Given the description of an element on the screen output the (x, y) to click on. 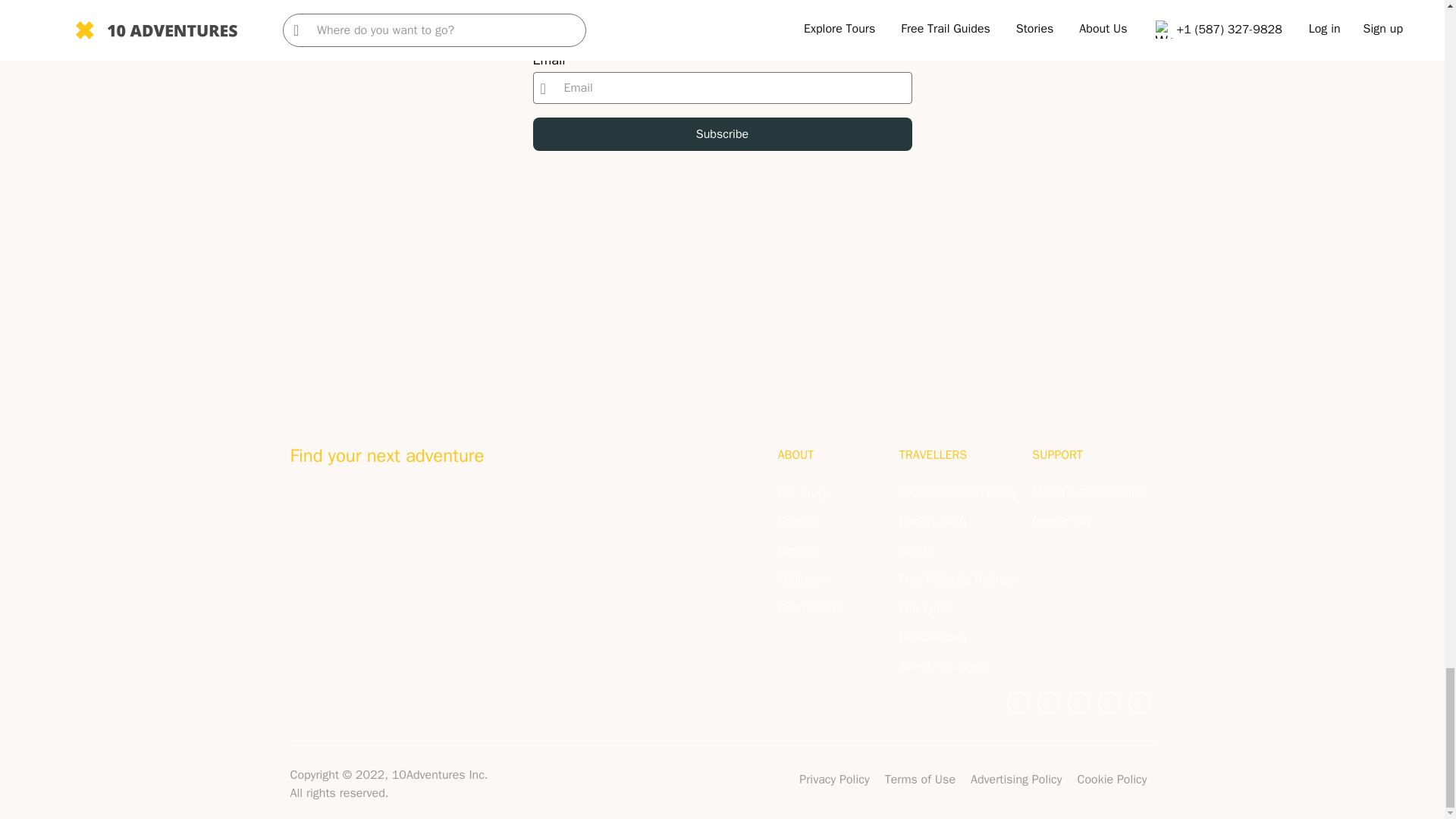
Adventure Travel Trade Association (338, 510)
